Given the description of an element on the screen output the (x, y) to click on. 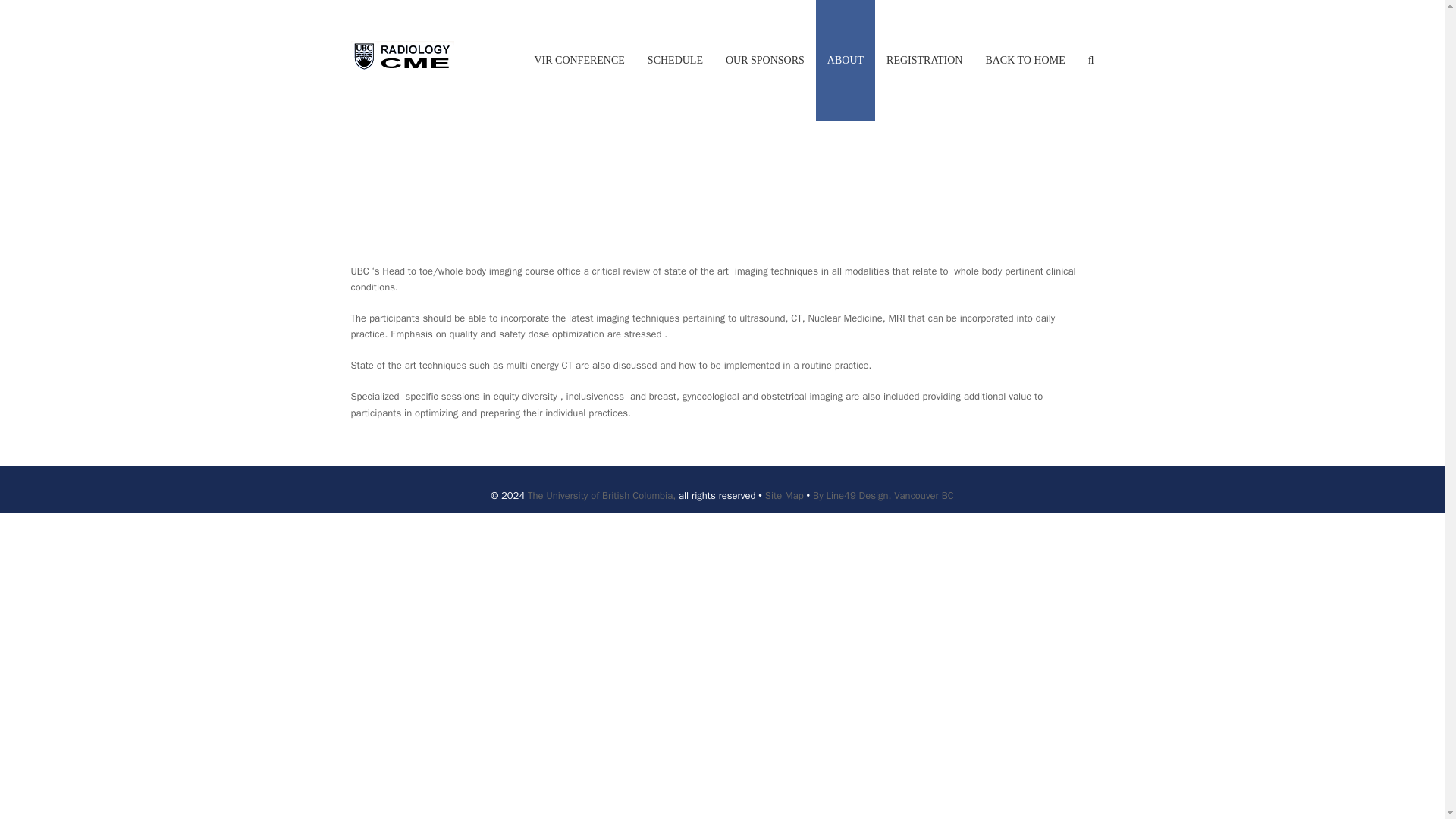
Site Map (784, 495)
The University of British Columbia, (601, 495)
By Line49 Design, Vancouver BC (882, 495)
VIR CONFERENCE (578, 60)
